Given the description of an element on the screen output the (x, y) to click on. 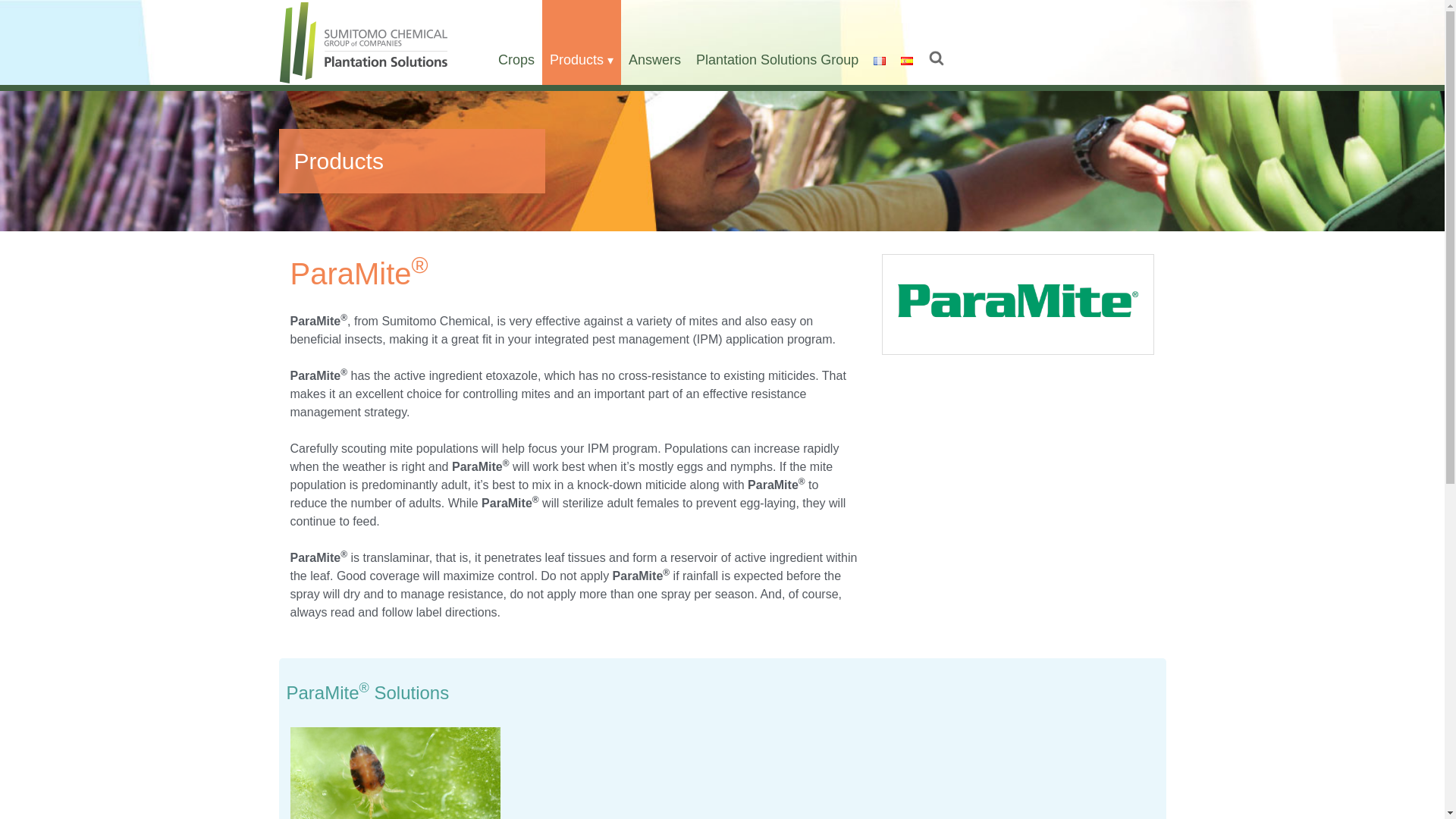
Plantation Solutions Group (777, 42)
Plantation Solutions (364, 42)
AzTron (628, 95)
Products (581, 42)
